Given the description of an element on the screen output the (x, y) to click on. 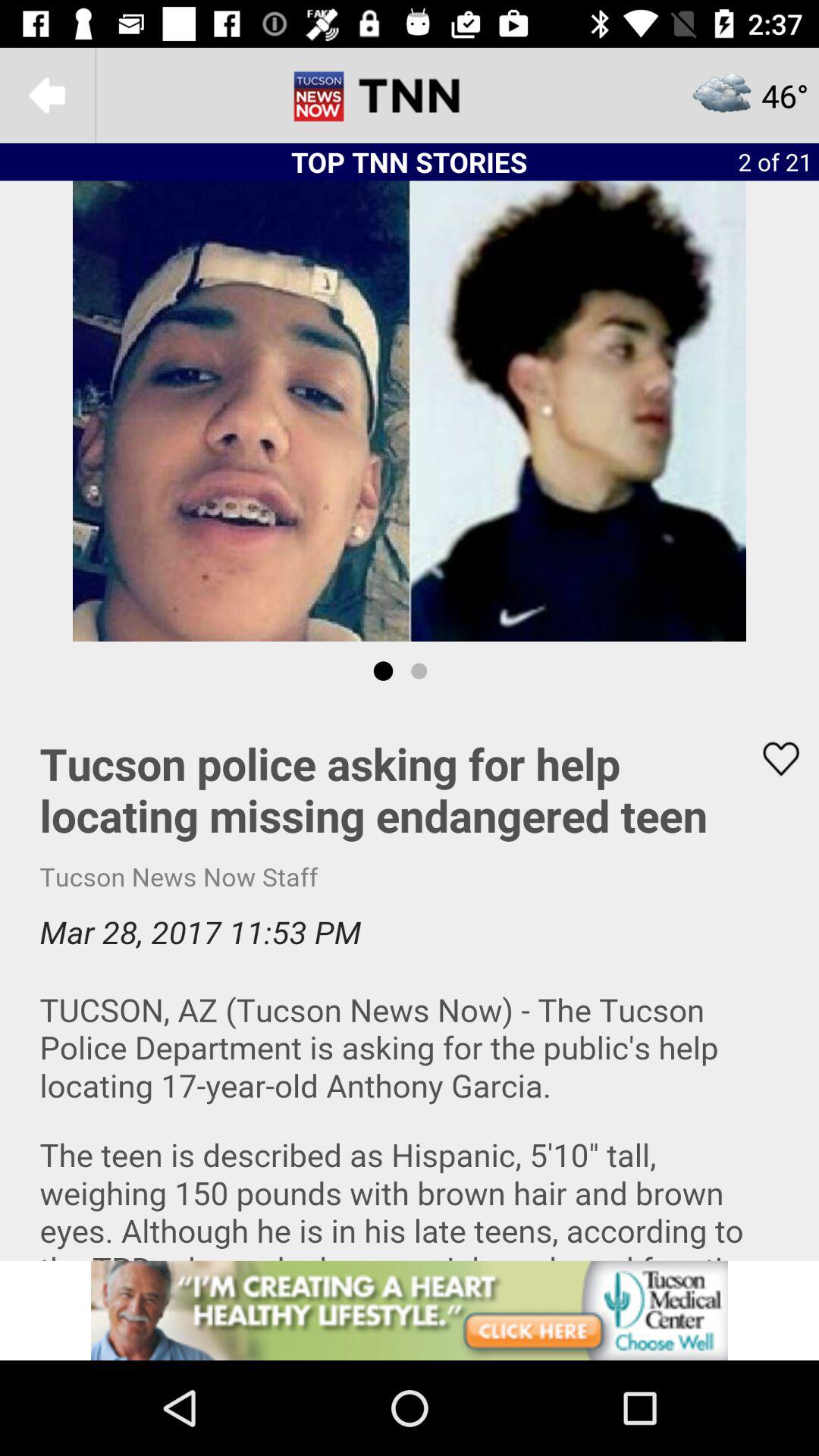
title and discription (409, 980)
